Given the description of an element on the screen output the (x, y) to click on. 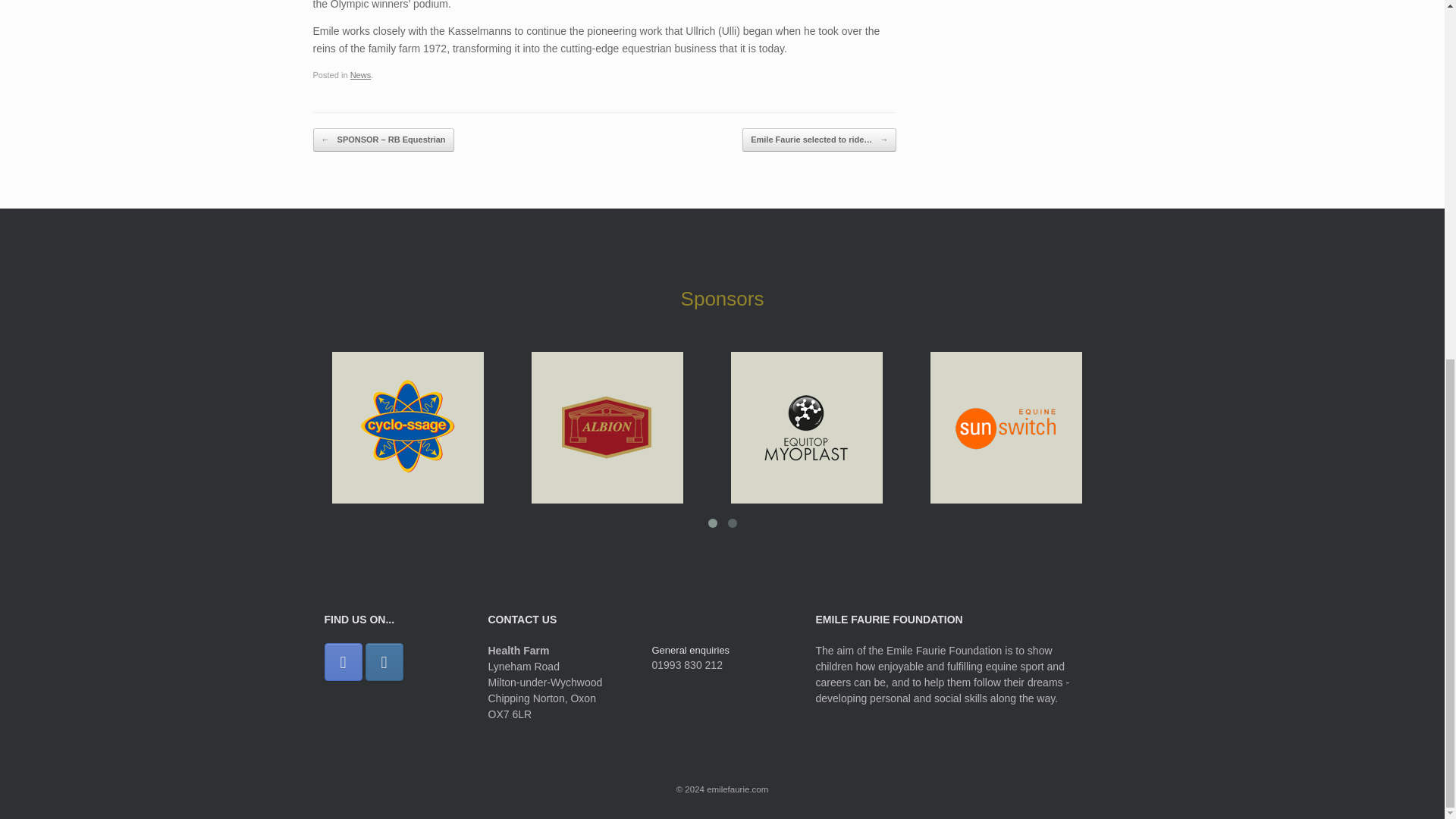
News (360, 74)
